Given the description of an element on the screen output the (x, y) to click on. 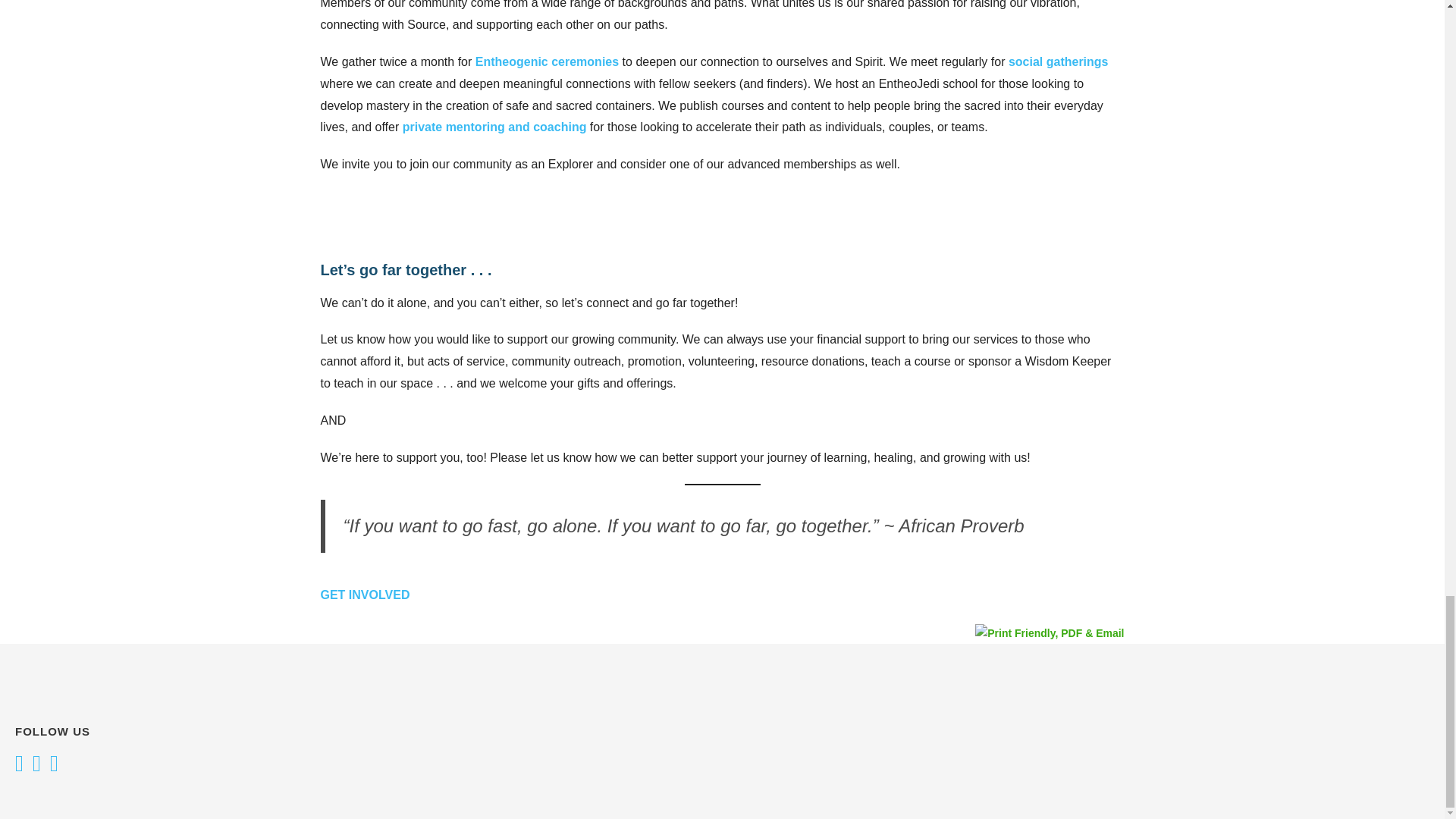
Entheogenic ceremonies (544, 61)
private mentoring and coaching (494, 126)
GET INVOLVED (364, 594)
social gatherings (1058, 61)
